Given the description of an element on the screen output the (x, y) to click on. 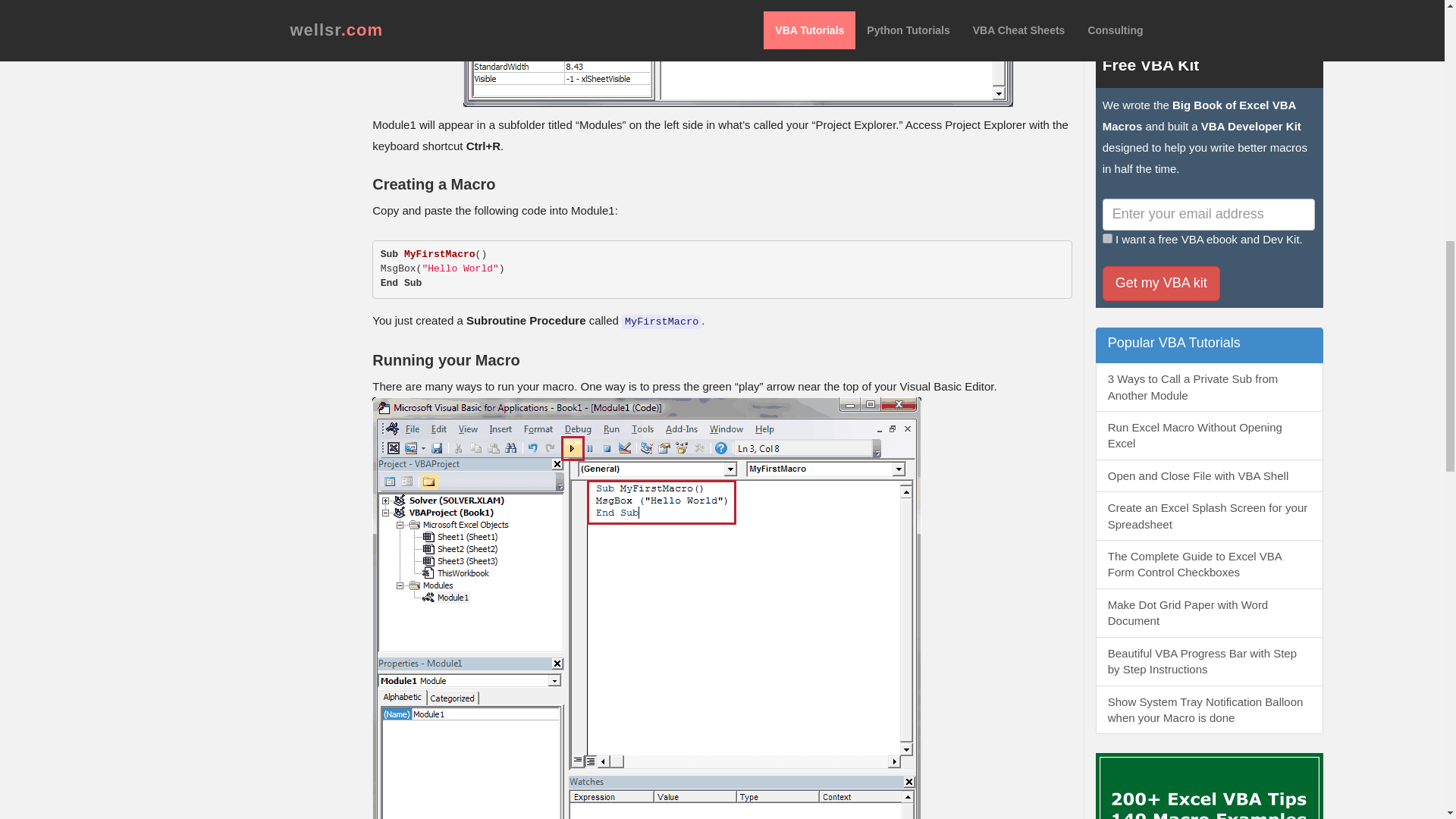
Get my VBA kit (1161, 283)
Popular VBA Tutorials (1209, 345)
Create an Excel Splash Screen for your Spreadsheet (1209, 515)
Understanding Option Explicit (1209, 3)
Open and Close File with VBA Shell (1209, 475)
VBA Cheat Sheet Bundle (1209, 785)
2 (1107, 238)
3 Ways to Call a Private Sub from Another Module (1209, 386)
Run Excel Macro Without Opening Excel (1209, 435)
The Complete Guide to Excel VBA Form Control Checkboxes (1209, 563)
